Given the description of an element on the screen output the (x, y) to click on. 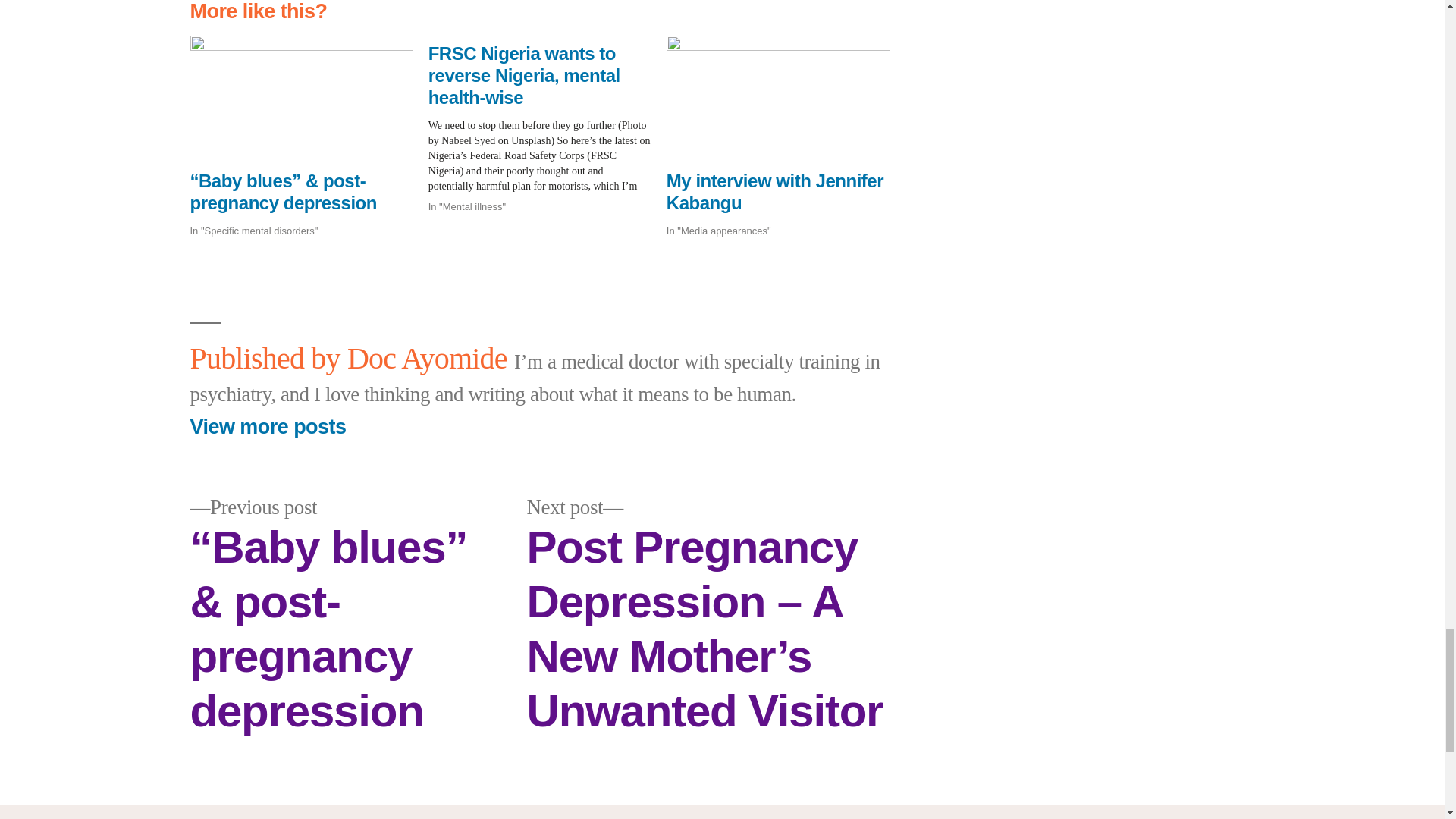
FRSC Nigeria wants to reverse Nigeria, mental health-wise (547, 123)
My interview with Jennifer Kabangu (774, 191)
FRSC Nigeria wants to reverse Nigeria, mental health-wise (524, 75)
FRSC Nigeria wants to reverse Nigeria, mental health-wise (524, 75)
My interview with Jennifer Kabangu (774, 191)
My interview with Jennifer Kabangu (777, 97)
